Given the description of an element on the screen output the (x, y) to click on. 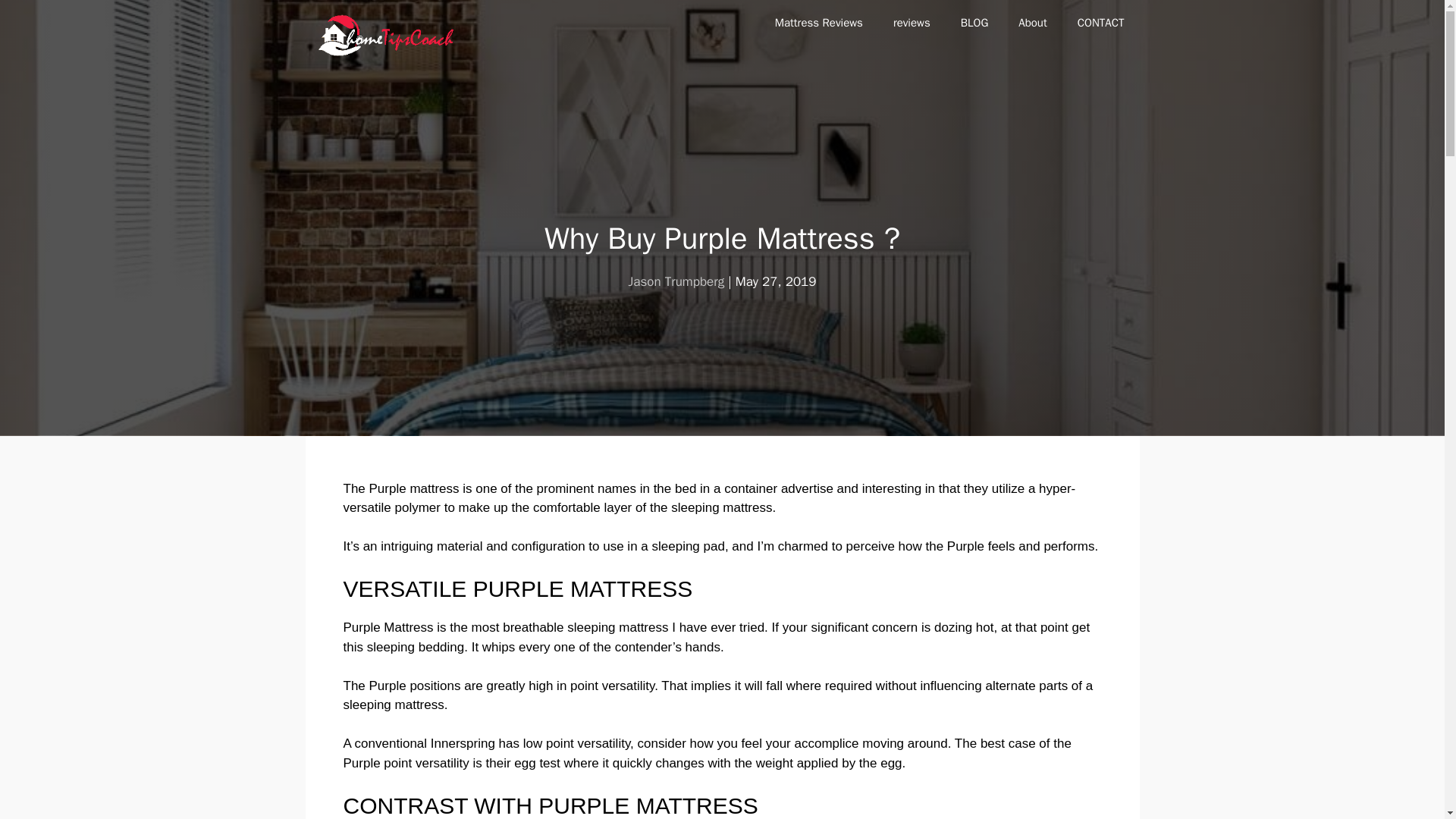
Home Tips Coach (386, 35)
About (1032, 22)
BLOG (974, 22)
Mattress Reviews (818, 22)
reviews (910, 22)
View all posts by Jason Trumpberg (676, 280)
Home Tips Coach (390, 35)
Jason Trumpberg (676, 280)
CONTACT (1101, 22)
